Given the description of an element on the screen output the (x, y) to click on. 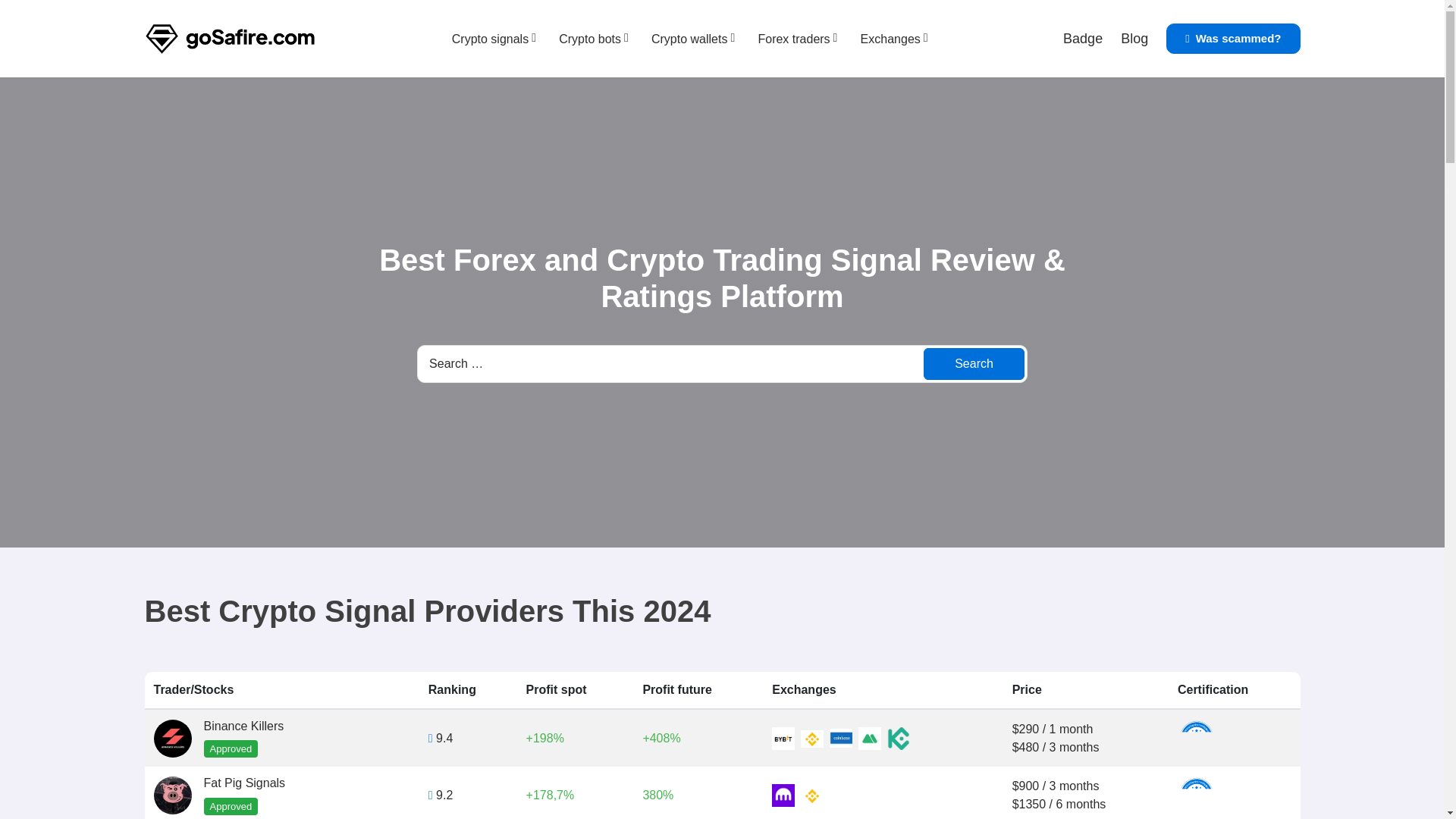
Bybit (782, 738)
Crypto signals (489, 39)
Search (974, 364)
Search (974, 364)
Kucoin (898, 738)
Kraken (782, 794)
goSafire (229, 38)
MEXC (869, 738)
Binance (812, 795)
Coinbase (840, 737)
